Given the description of an element on the screen output the (x, y) to click on. 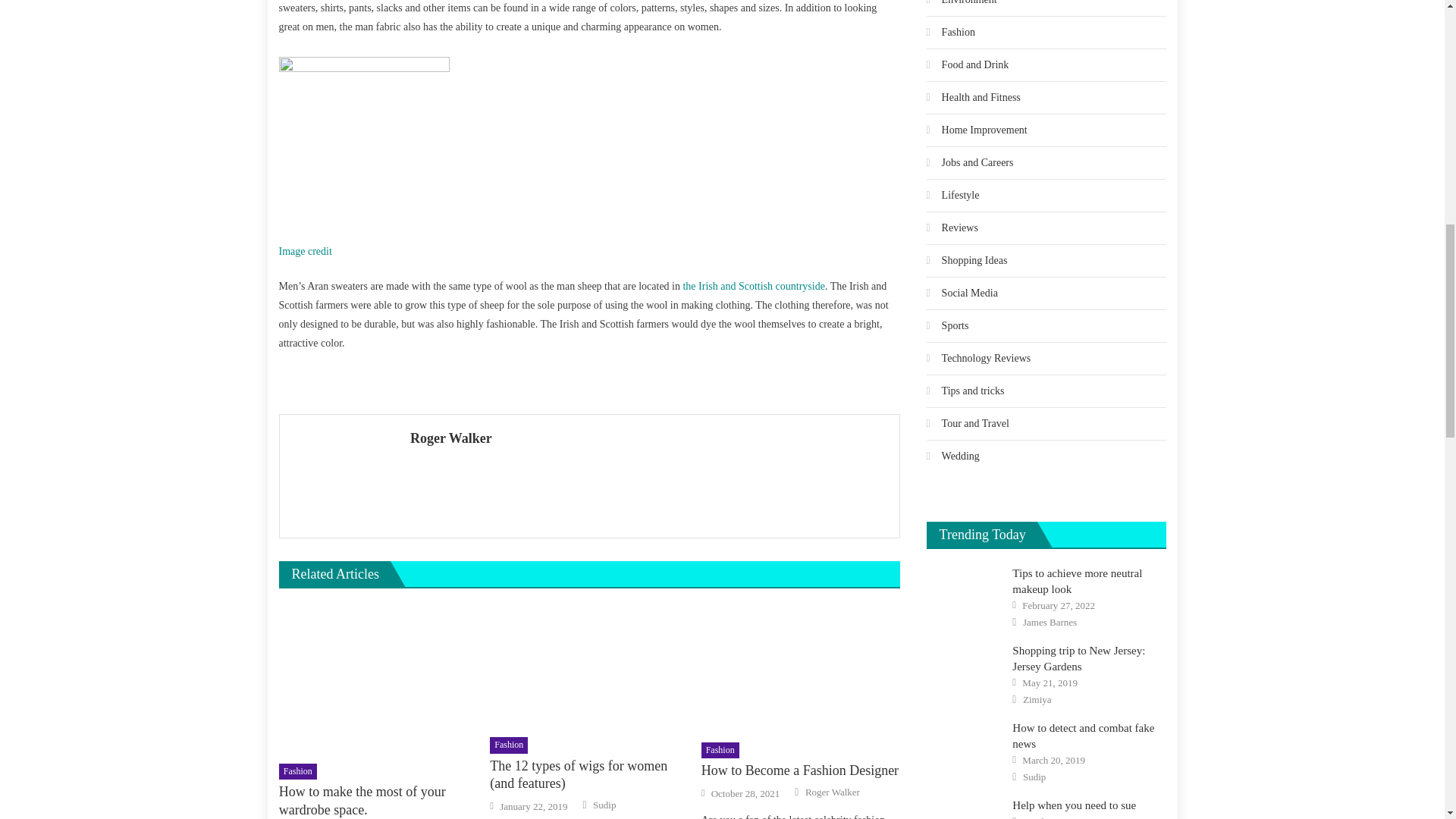
How to make the most of your wardrobe space. (378, 678)
How to Become a Fashion Designer (800, 675)
the Irish and Scottish countryside (753, 285)
How to detect and combat fake news (964, 746)
Tips to achieve more neutral makeup look (964, 591)
Help when you need to sue (964, 807)
Shopping trip to New Jersey: Jersey Gardens (964, 668)
Roger Walker (649, 437)
Image credit (305, 251)
